Given the description of an element on the screen output the (x, y) to click on. 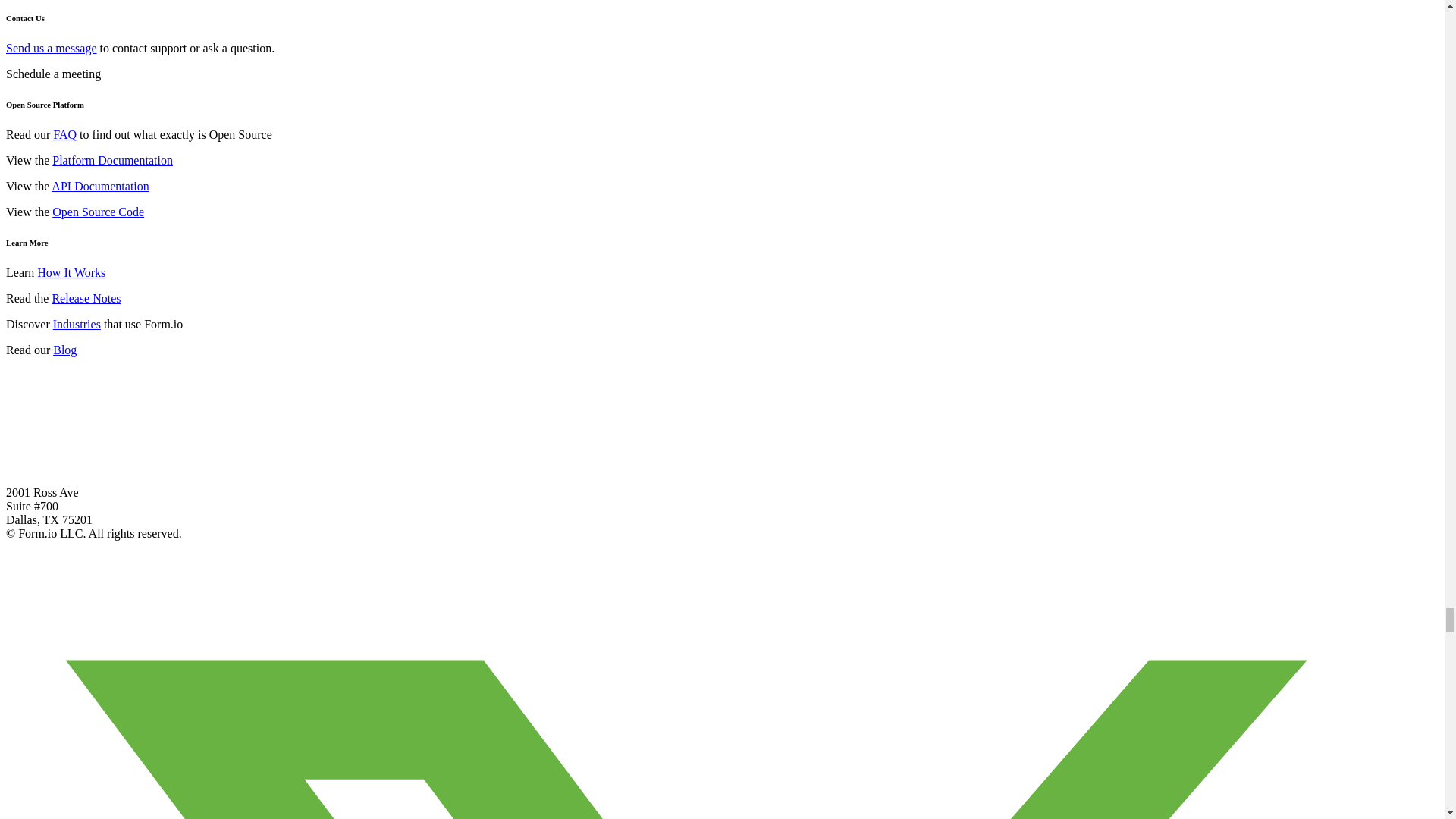
Platform Documentation (112, 160)
How It Works (70, 272)
Industries (76, 323)
FAQ (64, 133)
Release Notes (85, 297)
Open Source Code (98, 211)
Schedule a meeting (52, 73)
Send us a message (51, 47)
Blog (64, 349)
API Documentation (99, 185)
